Given the description of an element on the screen output the (x, y) to click on. 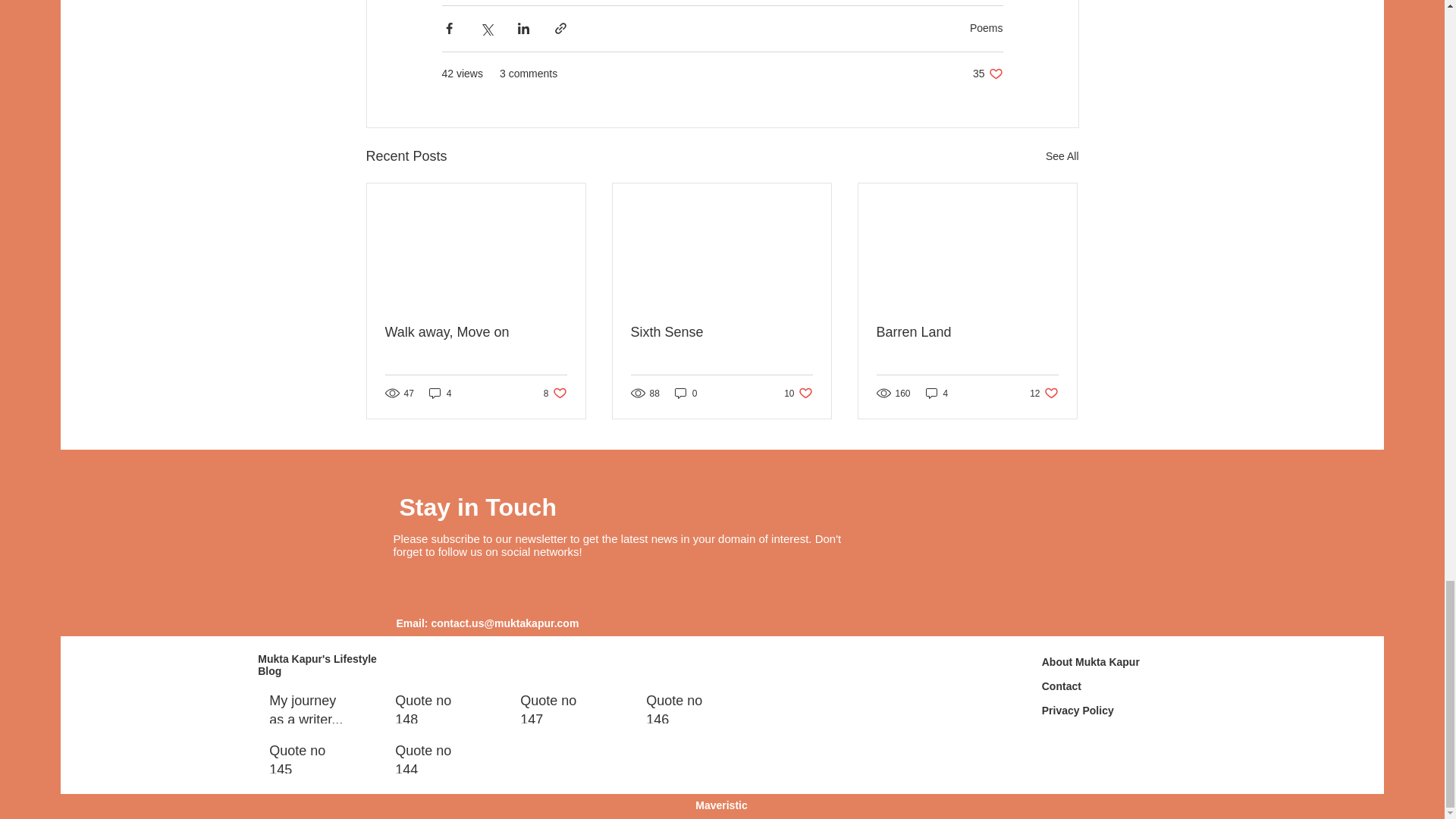
Walk away, Move on (476, 332)
4 (1043, 392)
See All (937, 392)
Barren Land (1061, 156)
Sixth Sense (967, 332)
Poems (721, 332)
